Given the description of an element on the screen output the (x, y) to click on. 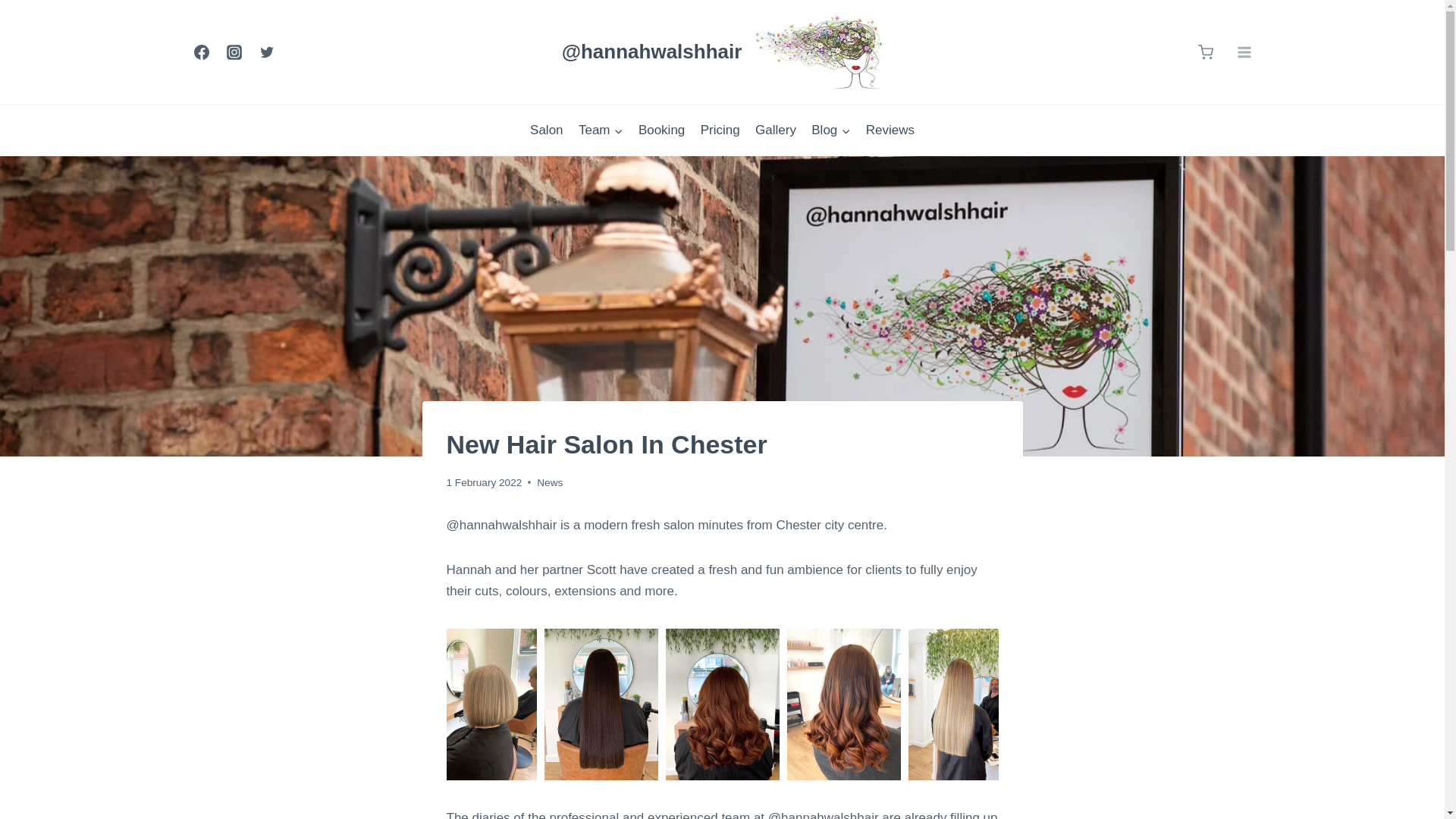
Salon (546, 130)
Team (600, 130)
Reviews (889, 130)
Gallery (775, 130)
Booking (661, 130)
News (549, 481)
Pricing (720, 130)
Blog (830, 130)
